Given the description of an element on the screen output the (x, y) to click on. 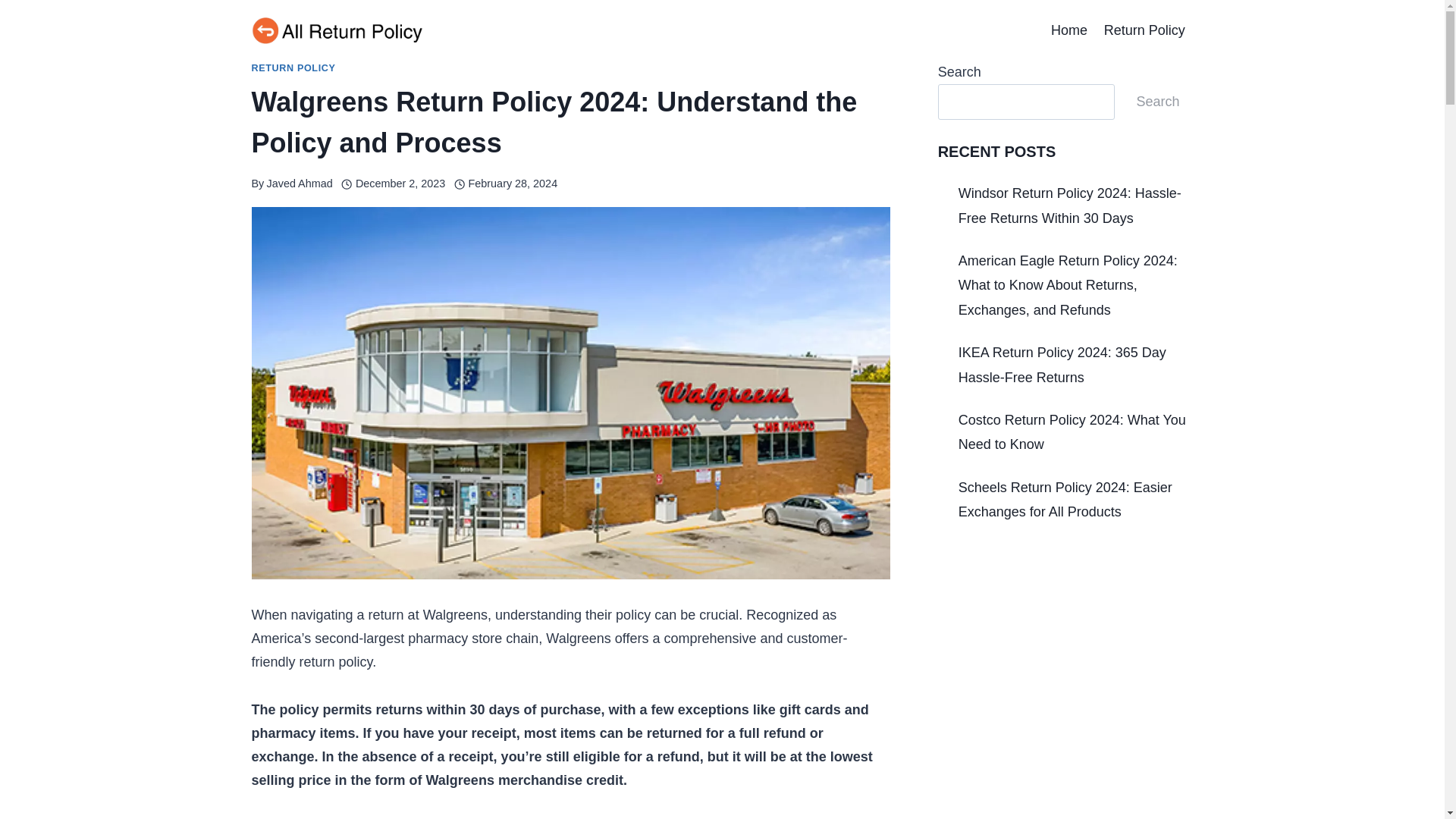
Javed Ahmad (298, 183)
Return Policy (1144, 30)
RETURN POLICY (293, 68)
Home (1069, 30)
